Given the description of an element on the screen output the (x, y) to click on. 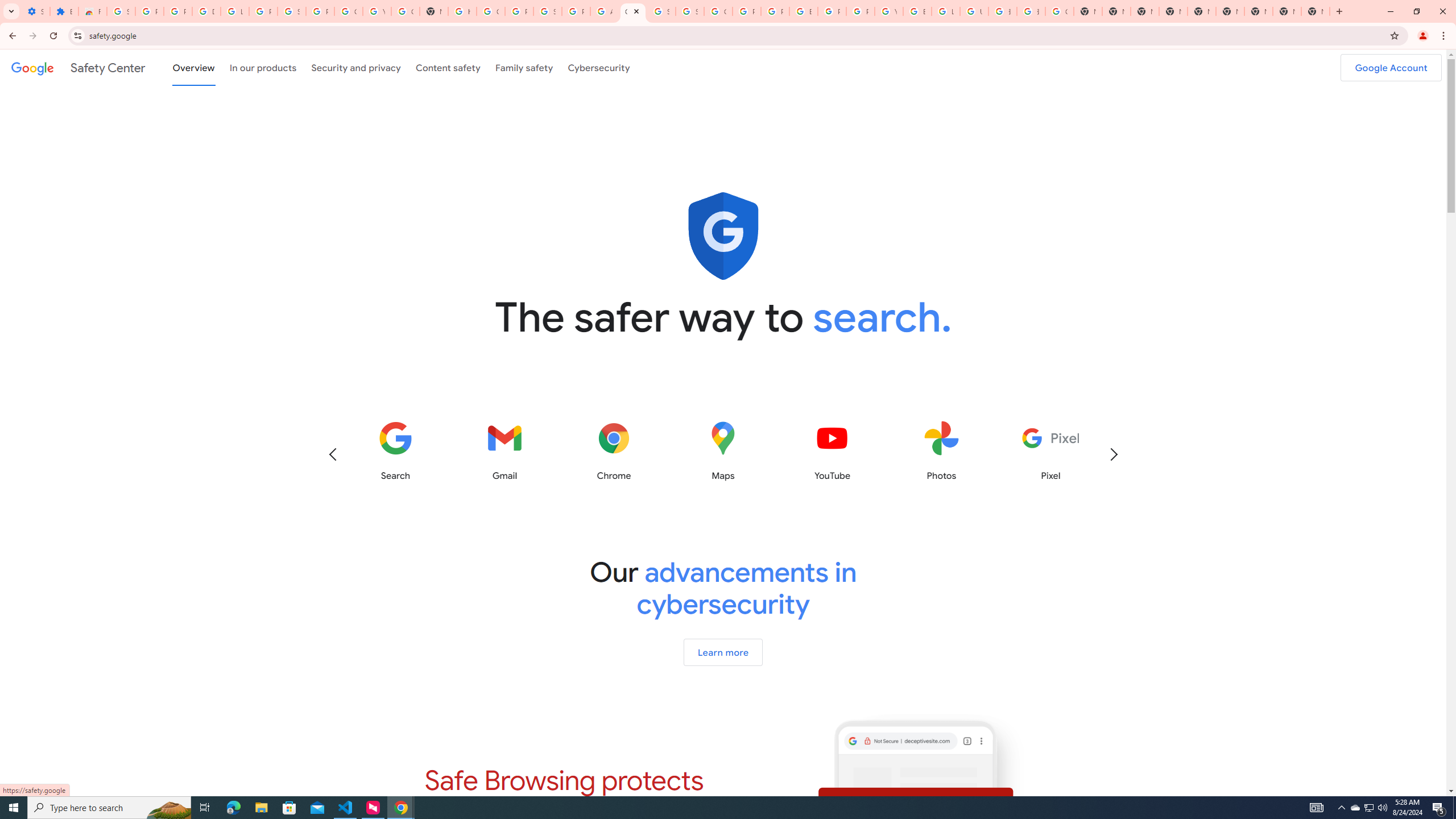
New Tab (1173, 11)
Sign in - Google Accounts (661, 11)
Family safety (523, 67)
Safety Center (78, 67)
YouTube (888, 11)
https://scholar.google.com/ (461, 11)
Learn more about Maps (722, 451)
Google Account (348, 11)
Sign in - Google Accounts (120, 11)
